Given the description of an element on the screen output the (x, y) to click on. 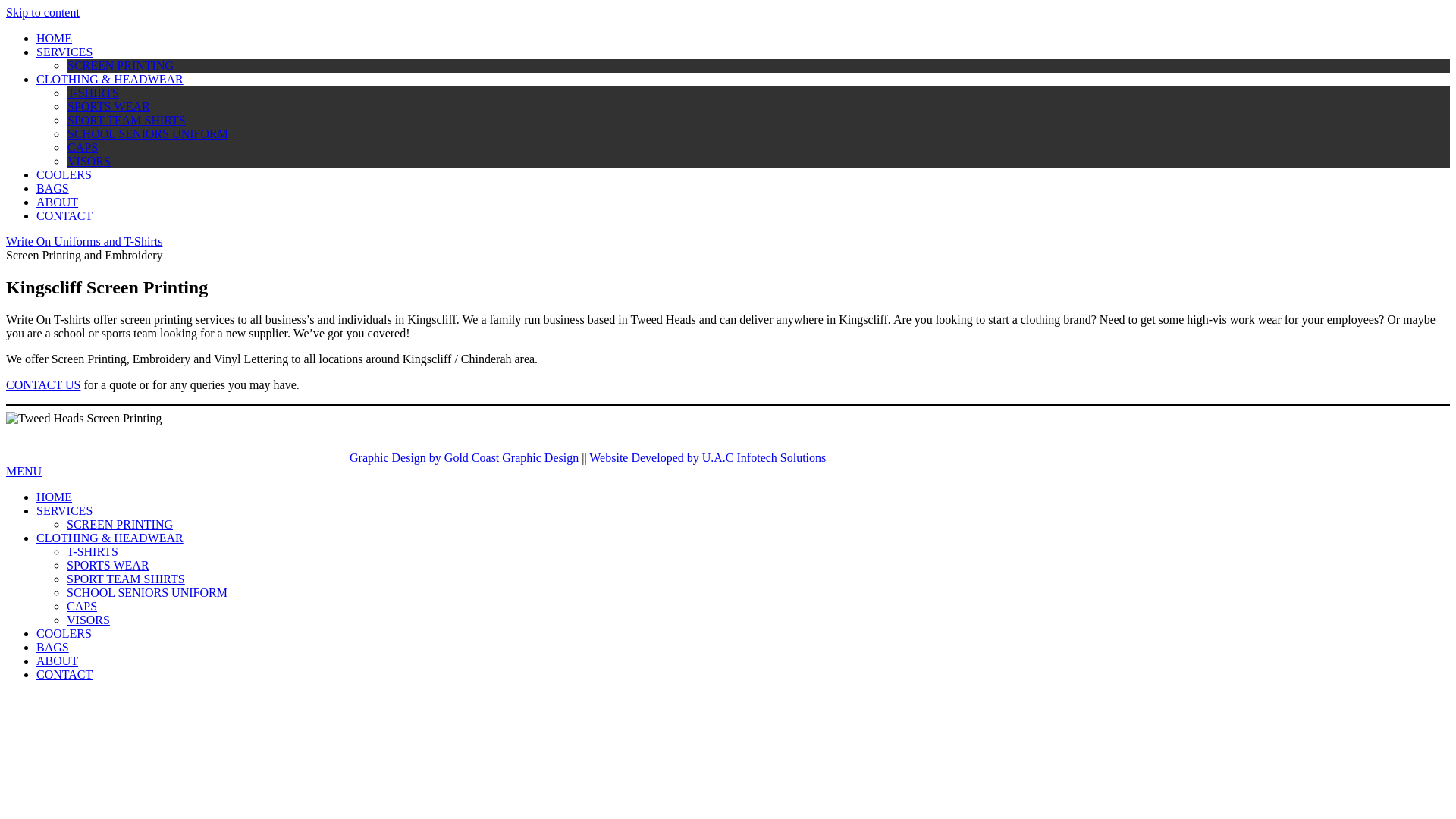
HOME Element type: text (54, 496)
SCREEN PRINTING Element type: text (120, 65)
SPORT TEAM SHIRTS Element type: text (126, 119)
SERVICES Element type: text (64, 51)
CONTACT Element type: text (64, 215)
Website Developed by U.A.C Infotech Solutions Element type: text (707, 457)
CONTACT US Element type: text (43, 384)
SCREEN PRINTING Element type: text (119, 523)
BAGS Element type: text (52, 646)
BAGS Element type: text (52, 188)
VISORS Element type: text (87, 619)
SCHOOL SENIORS UNIFORM Element type: text (147, 133)
CLOTHING & HEADWEAR Element type: text (109, 537)
ABOUT Element type: text (57, 201)
VISORS Element type: text (88, 160)
ABOUT Element type: text (57, 660)
SERVICES Element type: text (64, 510)
SCHOOL SENIORS UNIFORM Element type: text (146, 592)
T-SHIRTS Element type: text (93, 92)
CAPS Element type: text (81, 605)
CAPS Element type: text (82, 147)
Skip to content Element type: text (42, 12)
HOME Element type: text (54, 37)
SPORT TEAM SHIRTS Element type: text (125, 578)
SPORTS WEAR Element type: text (108, 106)
COOLERS Element type: text (63, 633)
Write On Uniforms and T-Shirts Element type: text (84, 241)
COOLERS Element type: text (63, 174)
CONTACT Element type: text (64, 674)
SPORTS WEAR Element type: text (107, 564)
Graphic Design by Gold Coast Graphic Design Element type: text (463, 457)
CLOTHING & HEADWEAR Element type: text (109, 78)
MENU Element type: text (23, 470)
T-SHIRTS Element type: text (92, 551)
